Given the description of an element on the screen output the (x, y) to click on. 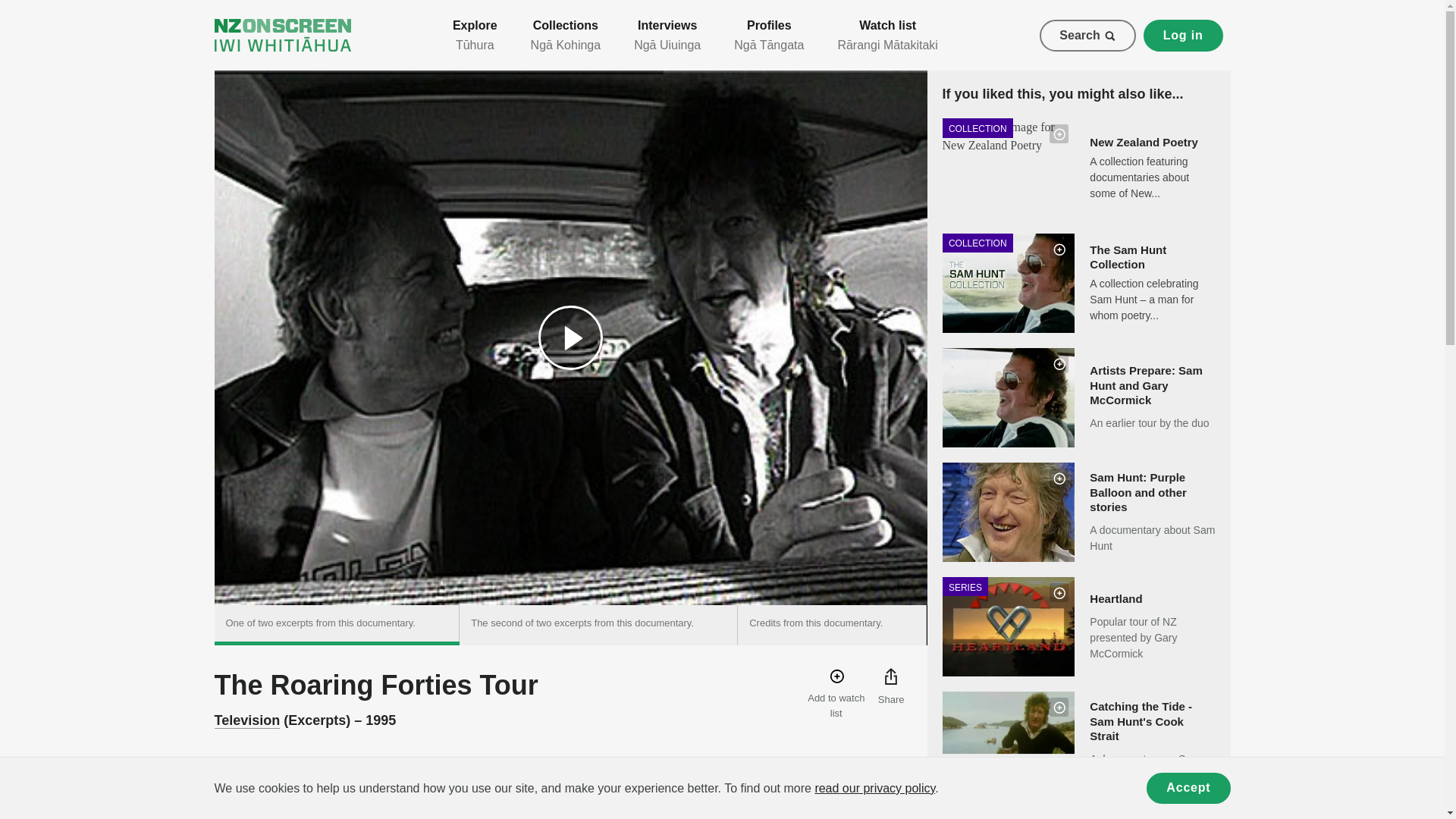
Search (1087, 35)
Credits (303, 779)
The second of two excerpts from this documentary. (599, 625)
Comments (486, 779)
One of two excerpts from this documentary. (337, 625)
Credits from this documentary. (832, 625)
Log in (1182, 35)
Quotes (360, 779)
read our privacy policy (873, 788)
NZ On Screen (282, 34)
